Given the description of an element on the screen output the (x, y) to click on. 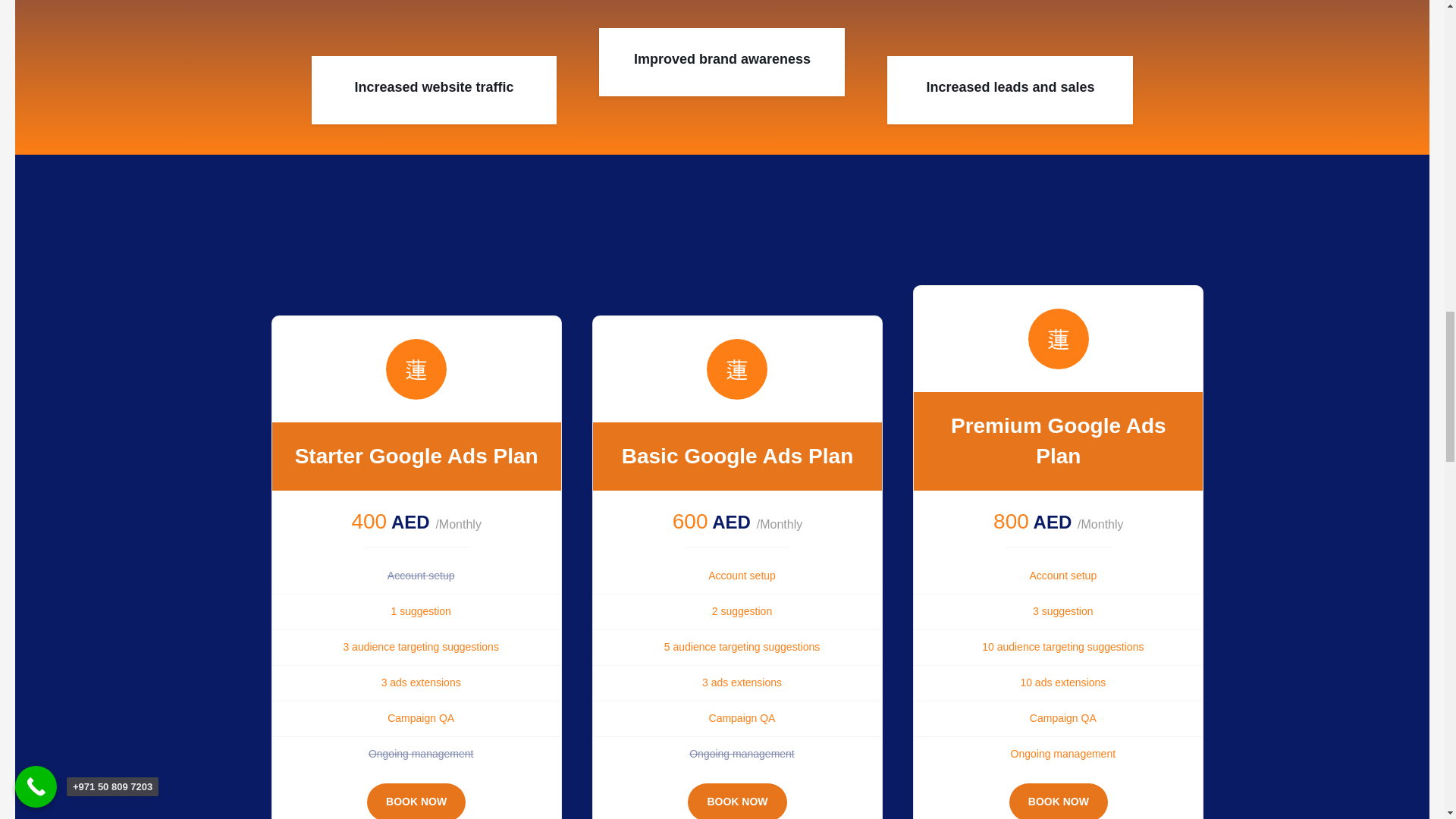
BOOK NOW (1058, 800)
BOOK NOW (415, 800)
BOOK NOW (736, 800)
